Given the description of an element on the screen output the (x, y) to click on. 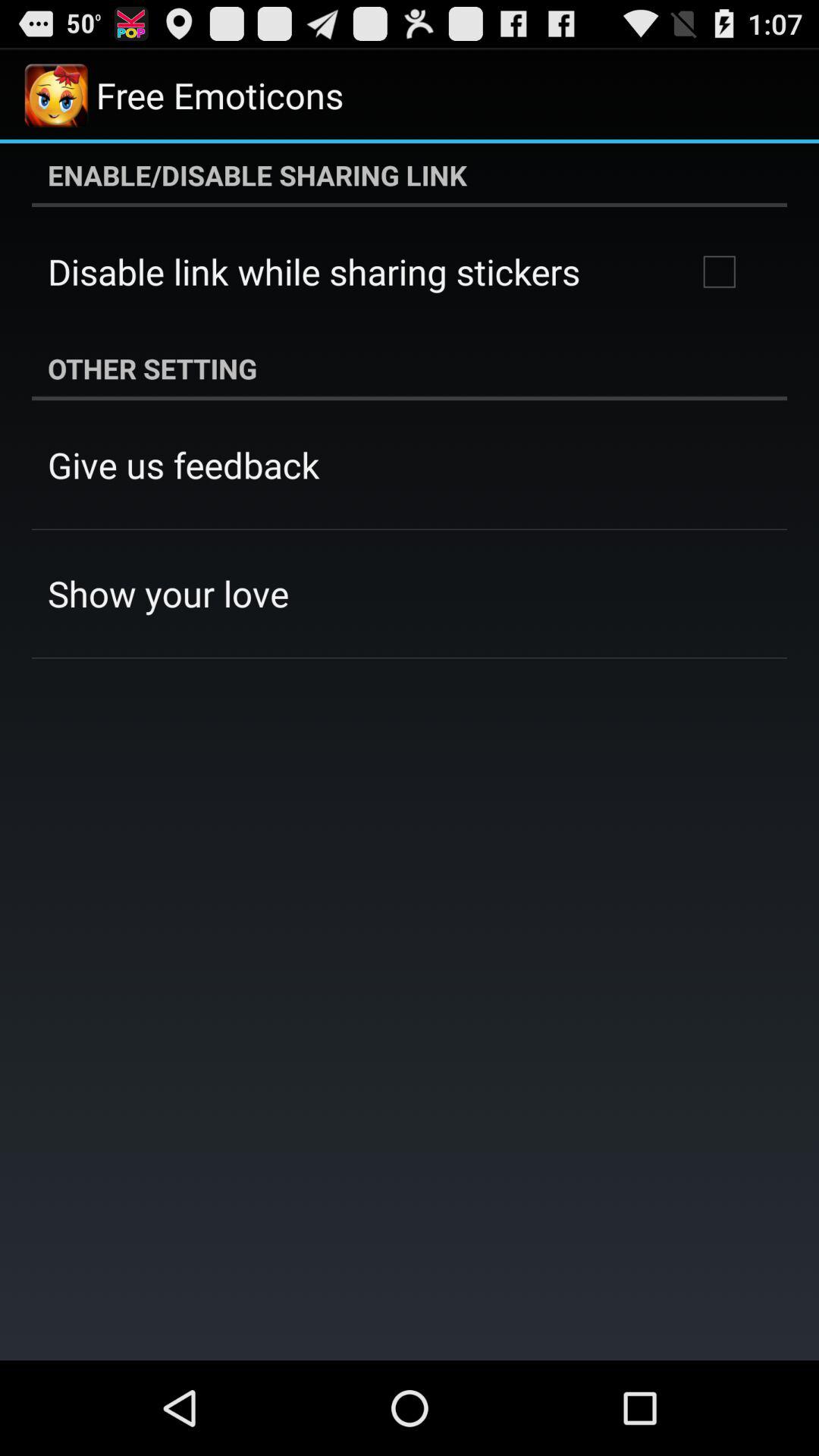
turn on other setting icon (409, 368)
